Given the description of an element on the screen output the (x, y) to click on. 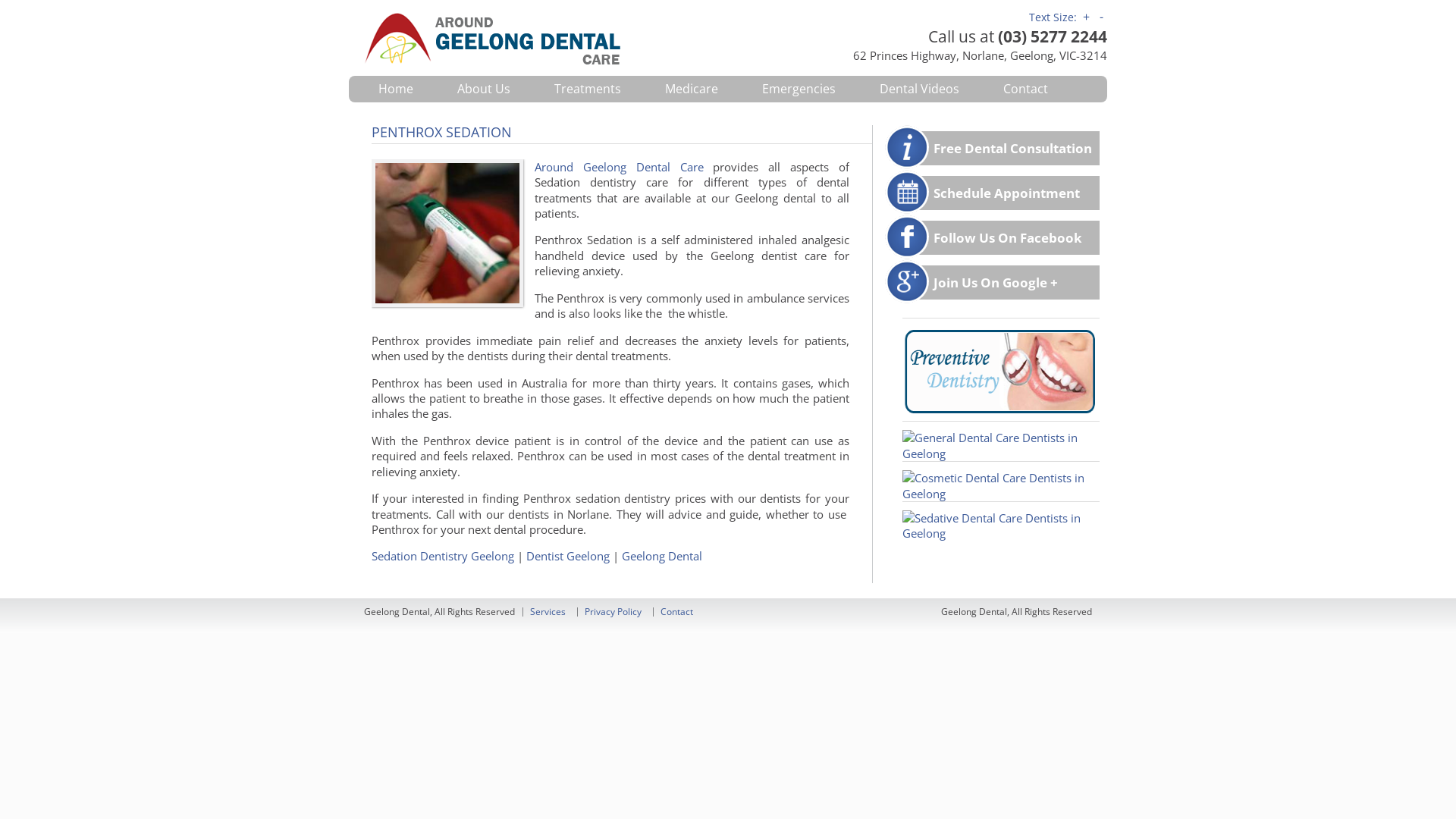
Dentist Geelong Element type: text (569, 555)
Home Element type: text (395, 88)
+ Element type: text (1086, 16)
Contact Element type: text (676, 611)
Emergencies Element type: text (798, 88)
AROUND GEELONG DENTAL CARE: THE GEELONG DENTIST CLINIC Element type: text (545, 37)
Penthrox Element type: hover (447, 233)
Around Geelong Dental Care Element type: text (618, 166)
Sedation Dentistry Geelong Element type: text (444, 555)
Follow Us On Facebook Element type: text (1007, 237)
Services Element type: text (547, 611)
Schedule Appointment Element type: text (1006, 192)
Dental Videos Element type: text (919, 88)
- Element type: text (1101, 16)
Contact Element type: text (1025, 88)
Sedative Dental Care Dentists in Geelong Element type: hover (1000, 532)
Medicare Element type: text (691, 88)
Geelong Dental Element type: text (661, 555)
Privacy Policy Element type: text (612, 611)
Free Dental Consultation Element type: text (1012, 147)
Treatments Element type: text (587, 88)
Cosmetic Dental Care Dentists in Geelong Element type: hover (1000, 493)
About Us Element type: text (483, 88)
Preventive Dental Care Dentists in Geelong Element type: hover (1000, 433)
Join Us On Google + Element type: text (995, 282)
General Dental Care Dentists in Geelong Element type: hover (1000, 453)
